Given the description of an element on the screen output the (x, y) to click on. 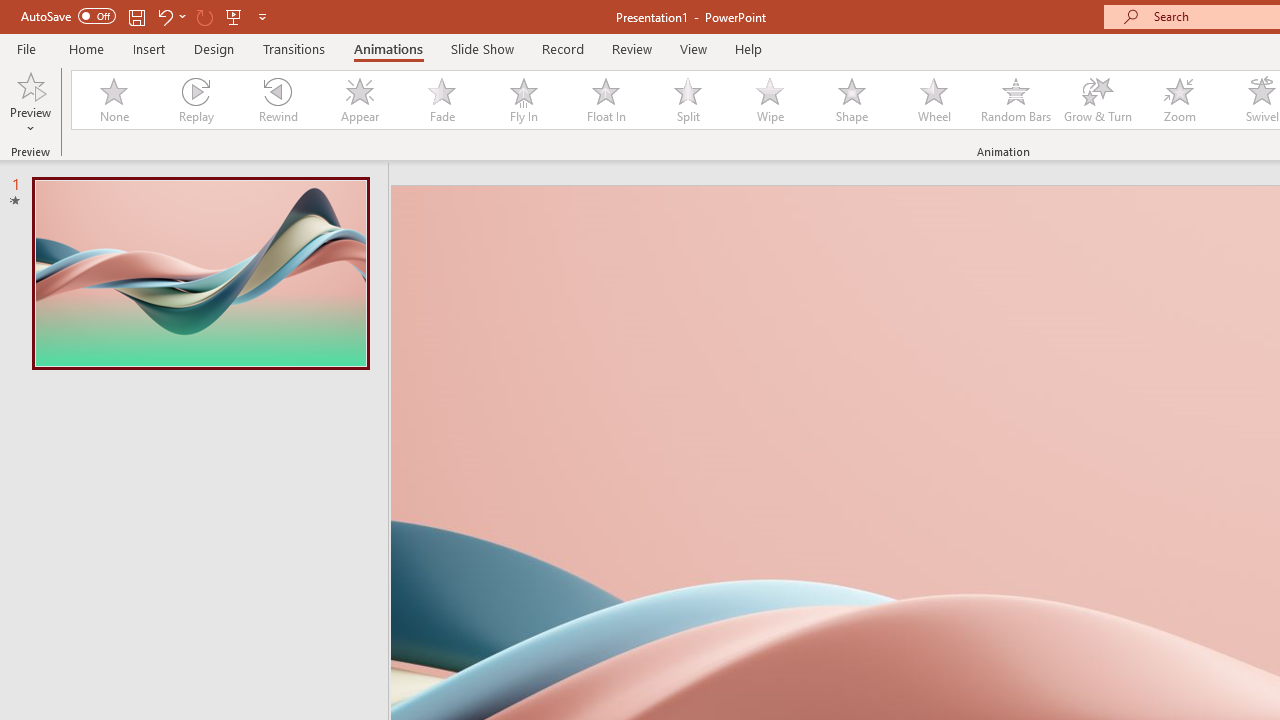
Fly In (523, 100)
Fade (441, 100)
Rewind (277, 100)
None (113, 100)
Grow & Turn (1098, 100)
Float In (605, 100)
